Given the description of an element on the screen output the (x, y) to click on. 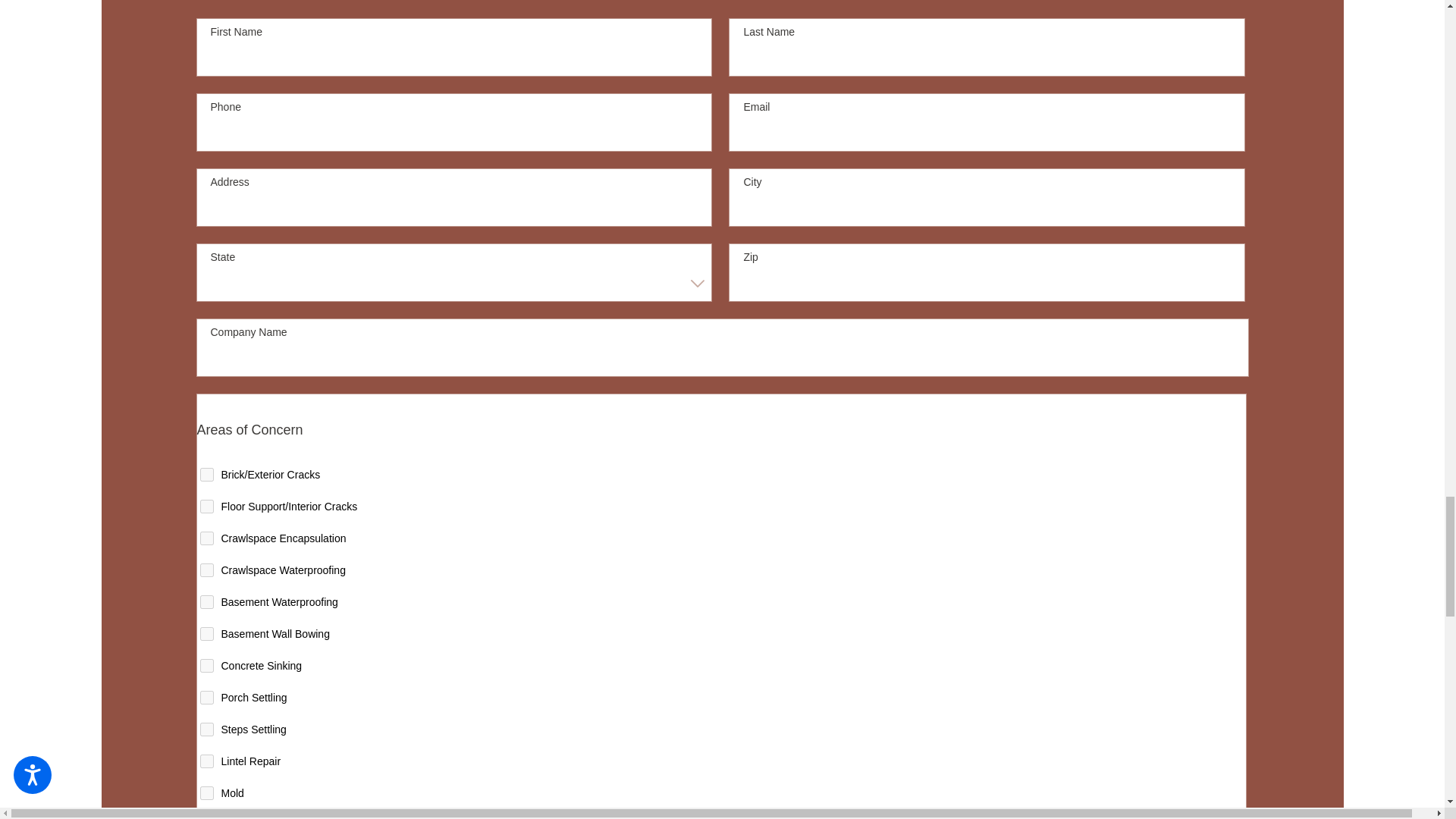
Crawlspace Waterproofing (207, 570)
Crawlspace Encapsulation (207, 538)
Steps Settling (207, 729)
Basement Waterproofing (207, 602)
Porch Settling (207, 697)
Concrete Sinking (207, 665)
Lintel Repair (207, 761)
Basement Wall Bowing (207, 633)
Mold (207, 793)
